Given the description of an element on the screen output the (x, y) to click on. 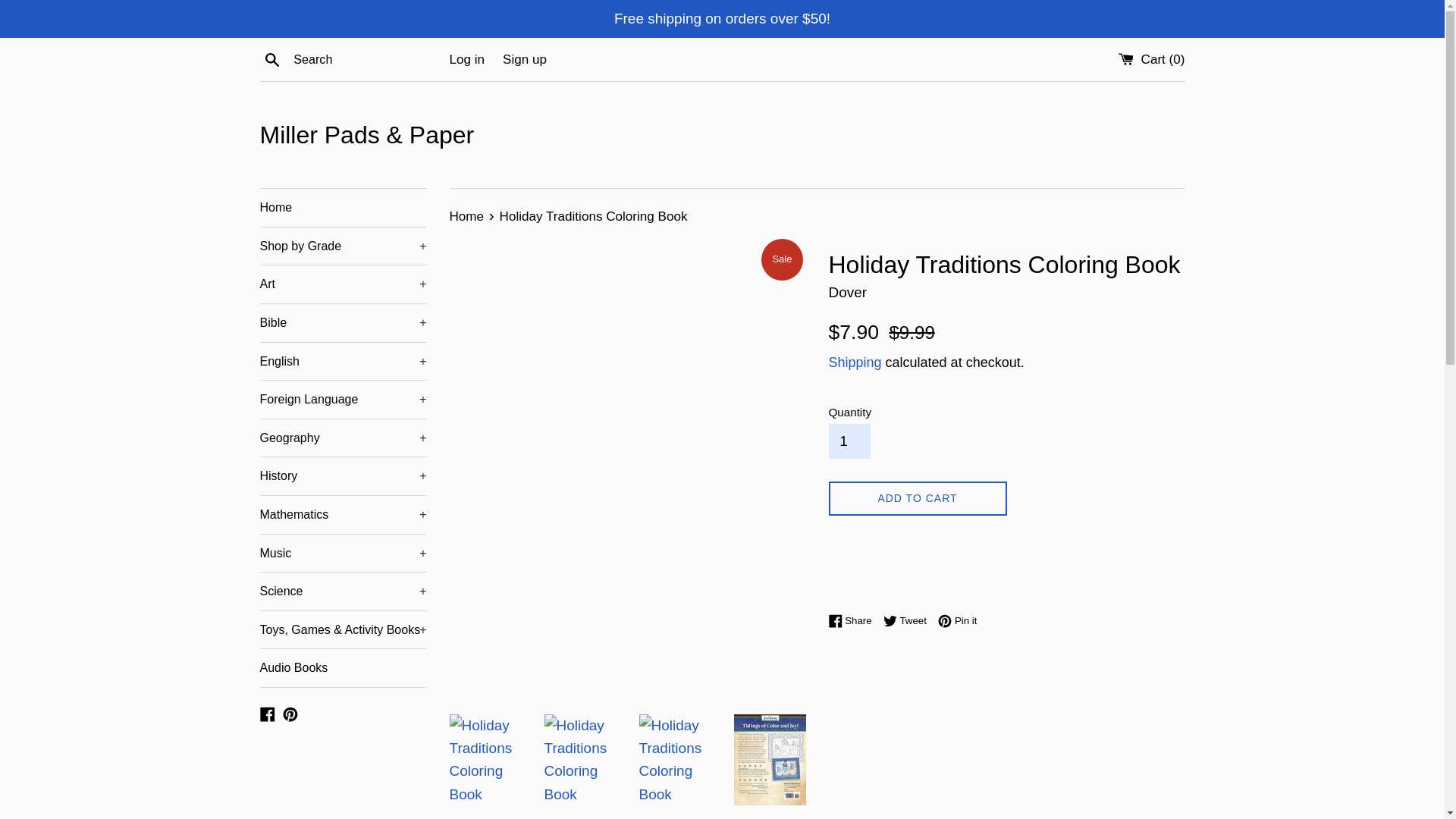
Back to the frontpage (467, 216)
Log in (466, 59)
1 (848, 441)
Pin on Pinterest (956, 620)
Share on Facebook (853, 620)
Sign up (524, 59)
Search (271, 58)
Tweet on Twitter (908, 620)
Home (342, 207)
